Given the description of an element on the screen output the (x, y) to click on. 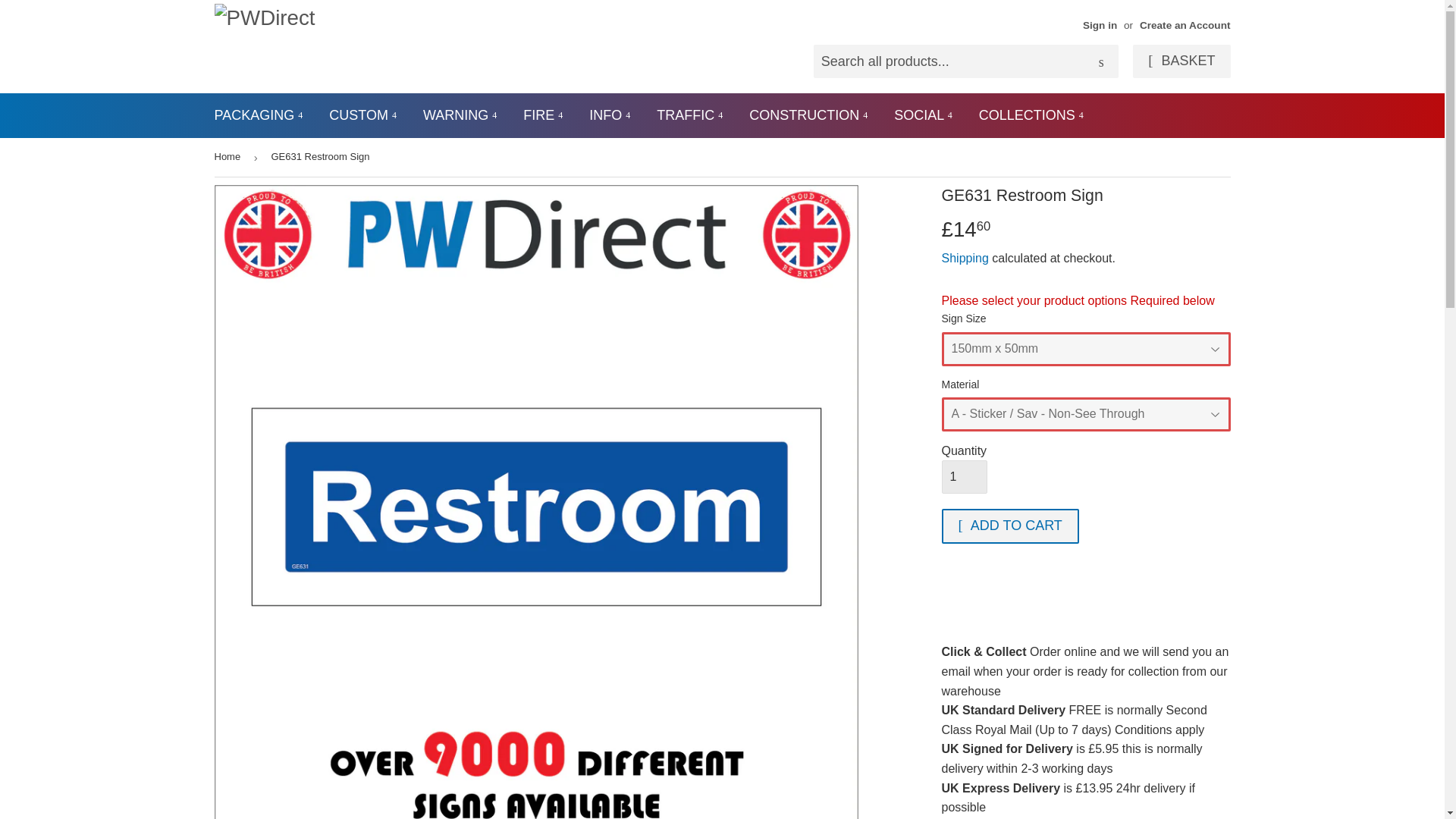
Create an Account (1185, 25)
1 (964, 476)
Sign in (1099, 25)
Search (1101, 61)
BASKET (1181, 61)
